Given the description of an element on the screen output the (x, y) to click on. 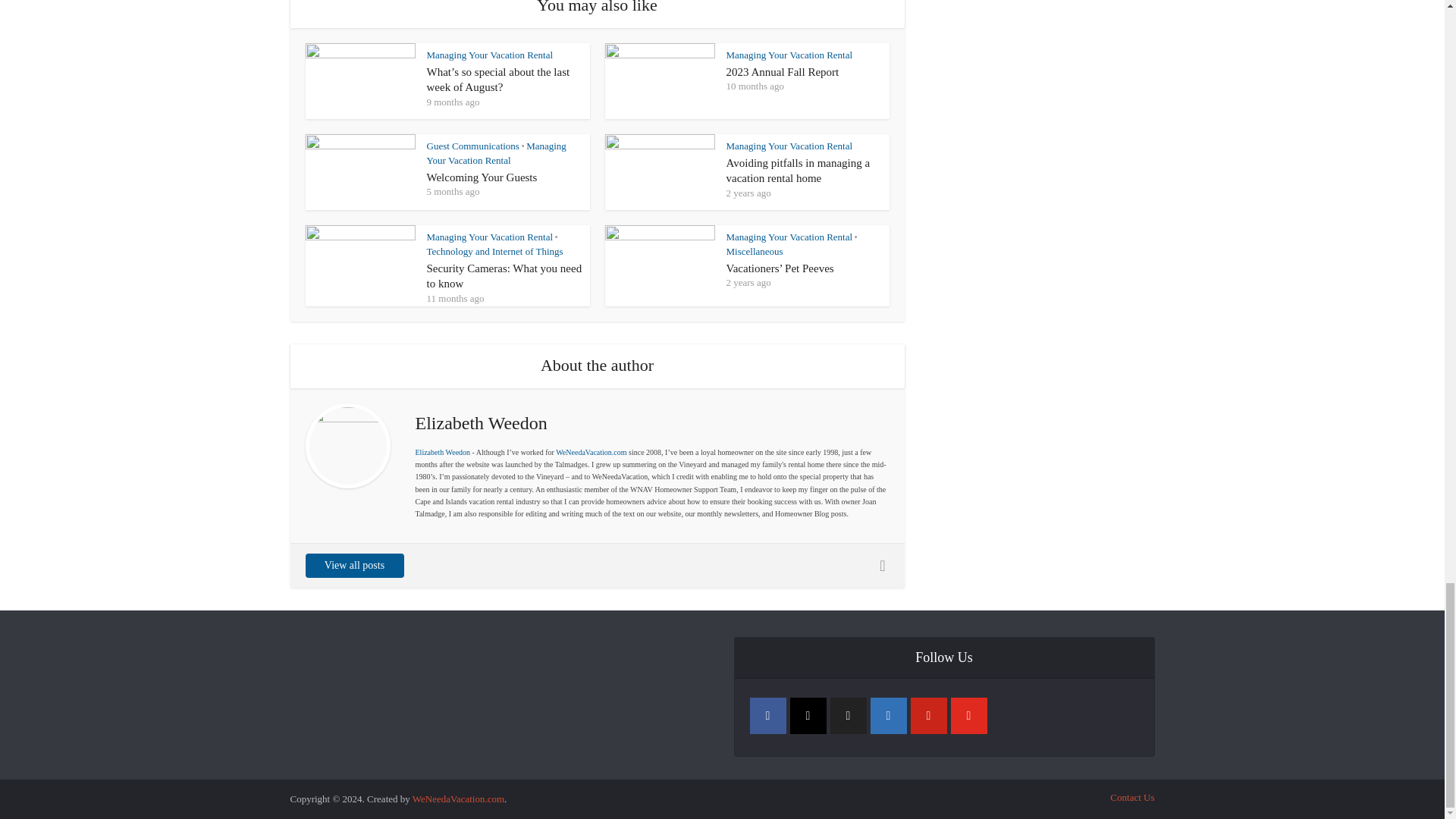
Avoiding pitfalls in managing a vacation rental home (798, 170)
Pinterest (928, 715)
Linkedin (888, 715)
Security Cameras: What you need to know (503, 275)
Welcoming Your Guests (481, 177)
Facebook (767, 715)
Instagram (808, 715)
2023 Annual Fall Report (783, 71)
